Given the description of an element on the screen output the (x, y) to click on. 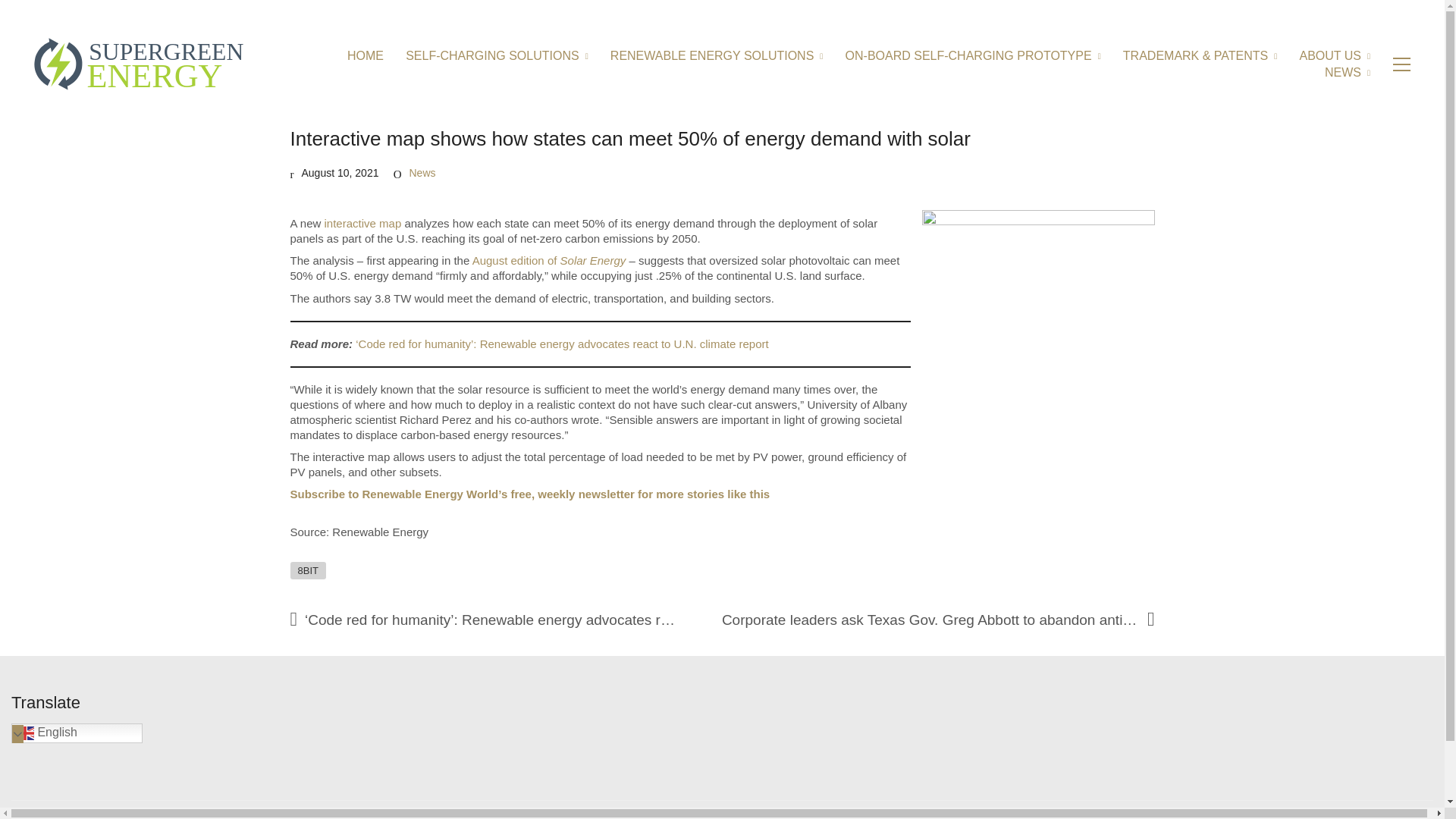
SELF-CHARGING SOLUTIONS (497, 55)
HOME (365, 55)
ABOUT US (1334, 55)
RENEWABLE ENERGY SOLUTIONS (717, 55)
ON-BOARD SELF-CHARGING PROTOTYPE (972, 55)
